Given the description of an element on the screen output the (x, y) to click on. 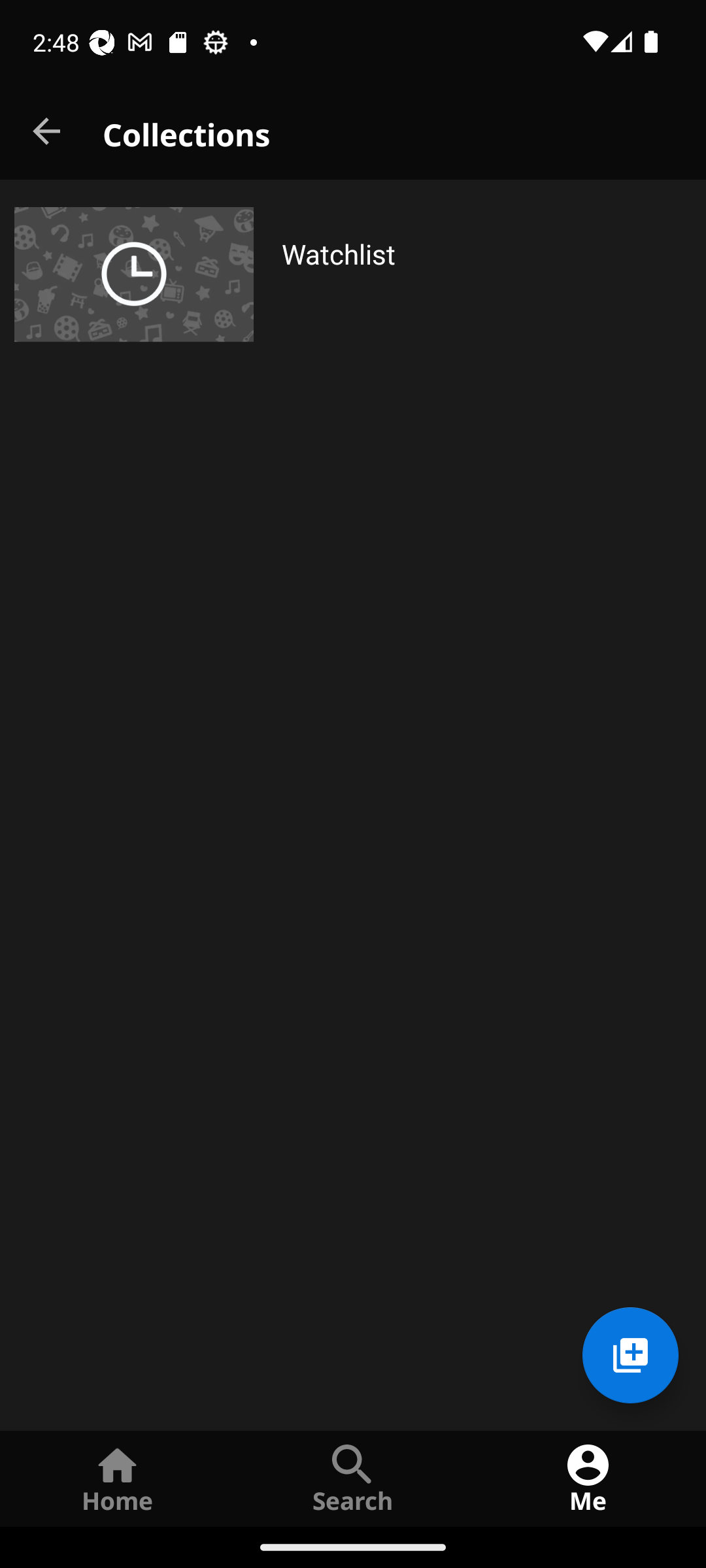
Navigate up (48, 131)
profile_page_user_collection_0 Watchlist (352, 273)
Home (117, 1478)
Search (352, 1478)
